Given the description of an element on the screen output the (x, y) to click on. 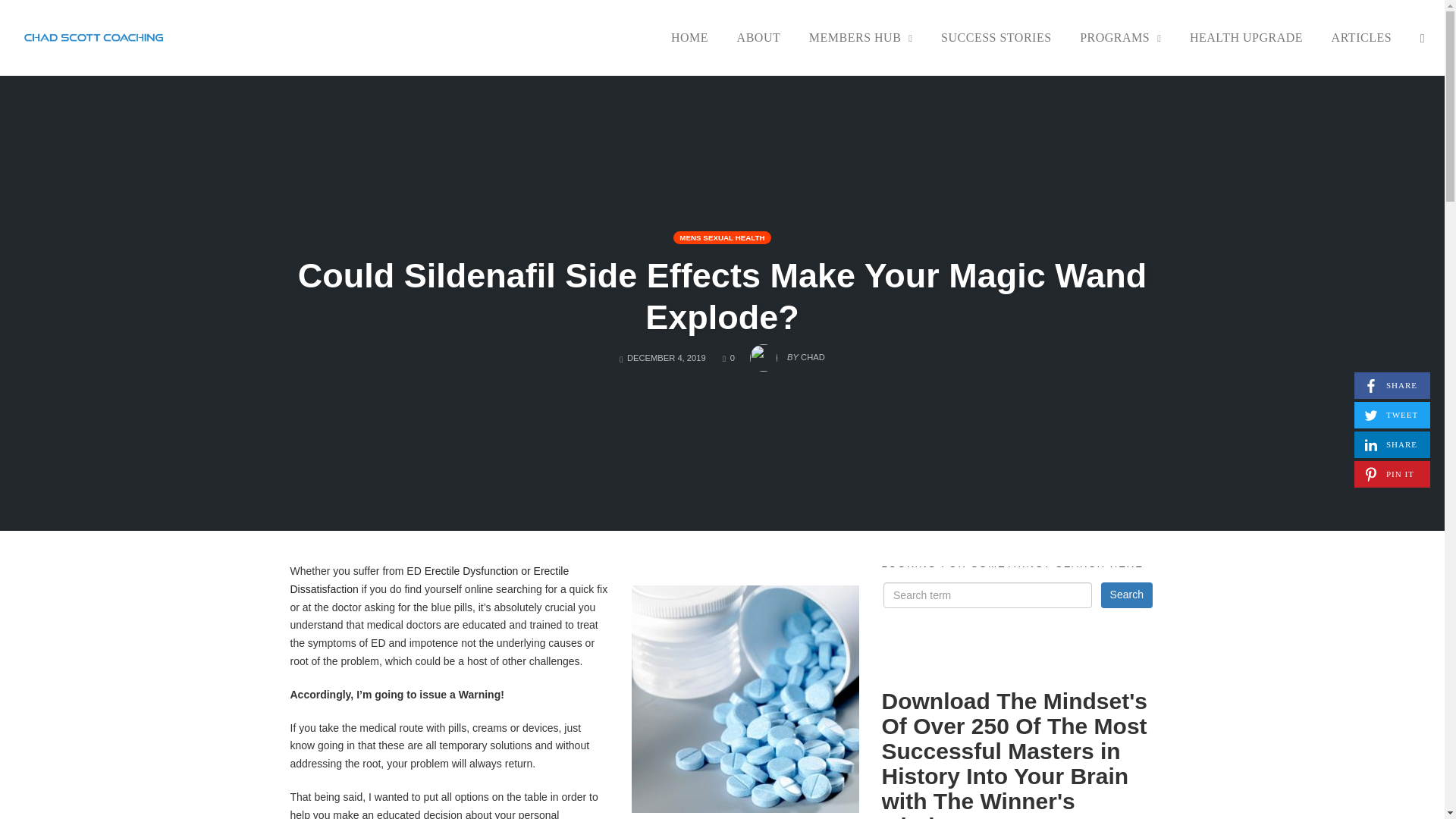
Erectile Dysfunction or Erectile Dissatisfaction (429, 580)
MENS SEXUAL HEALTH (721, 237)
MEMBERS HUB (860, 37)
SUCCESS STORIES (728, 357)
HEALTH UPGRADE (996, 37)
Search (1391, 444)
ABOUT (1245, 37)
BY CHAD (1126, 595)
